Given the description of an element on the screen output the (x, y) to click on. 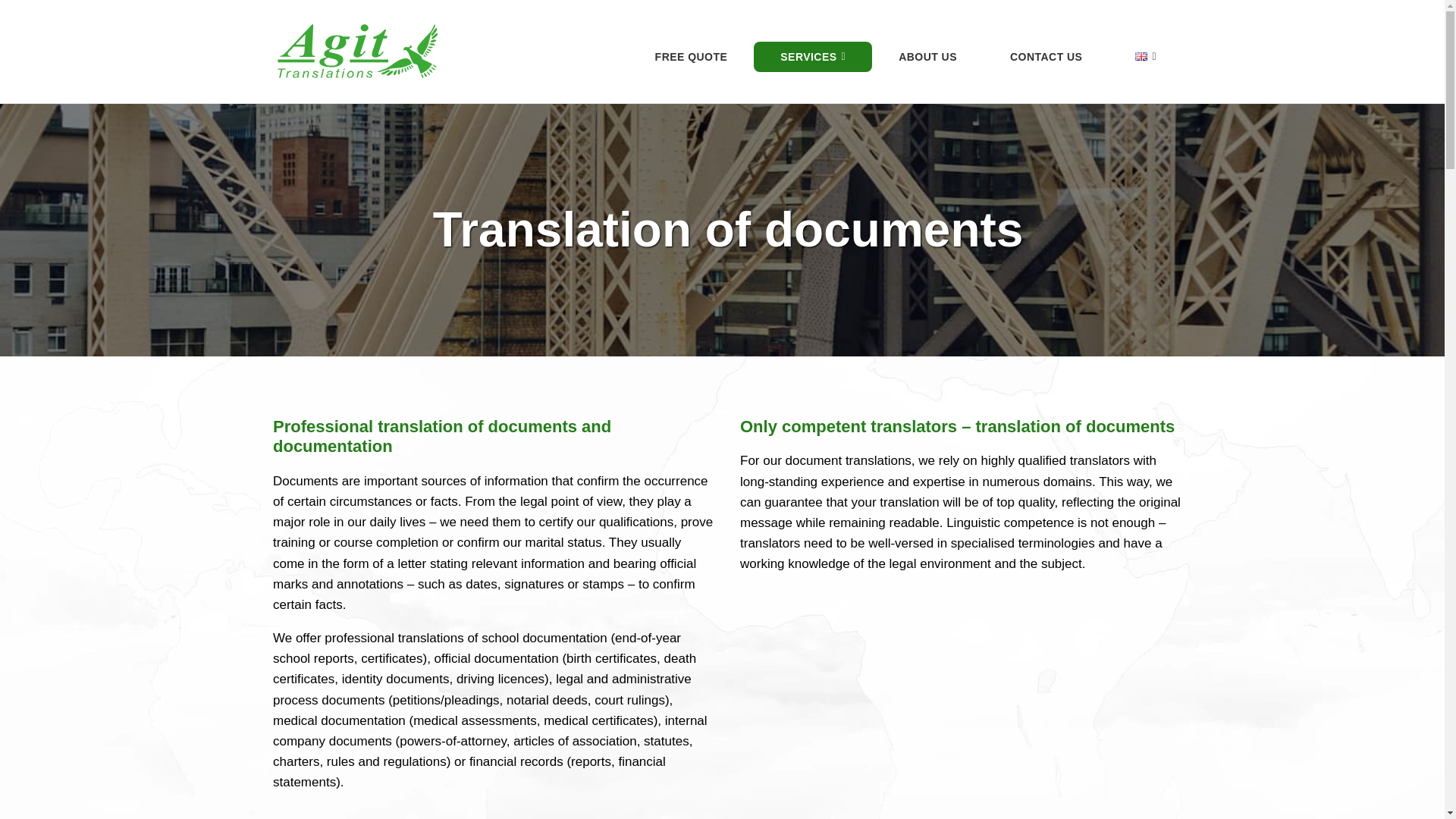
SERVICES (813, 55)
FREE QUOTE (691, 55)
